Given the description of an element on the screen output the (x, y) to click on. 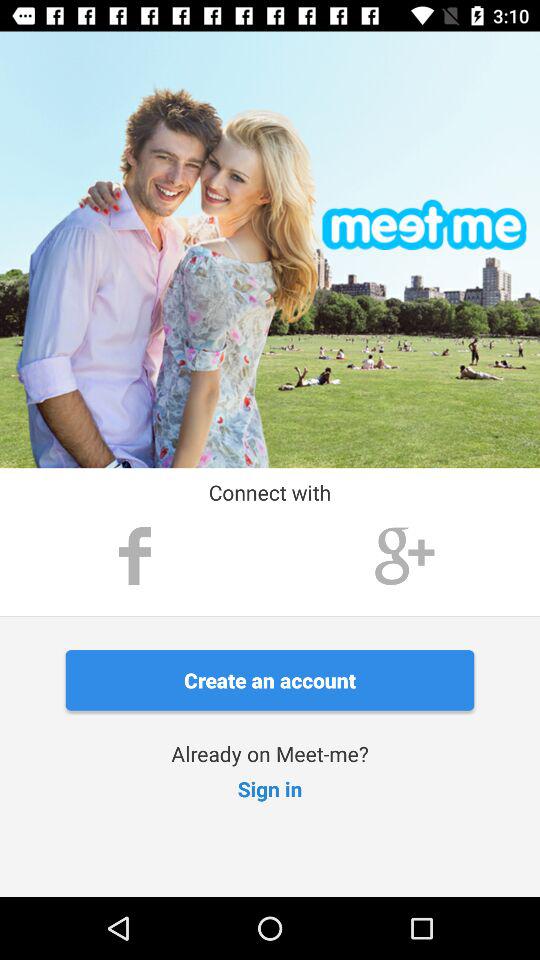
open item above already on meet icon (269, 680)
